Given the description of an element on the screen output the (x, y) to click on. 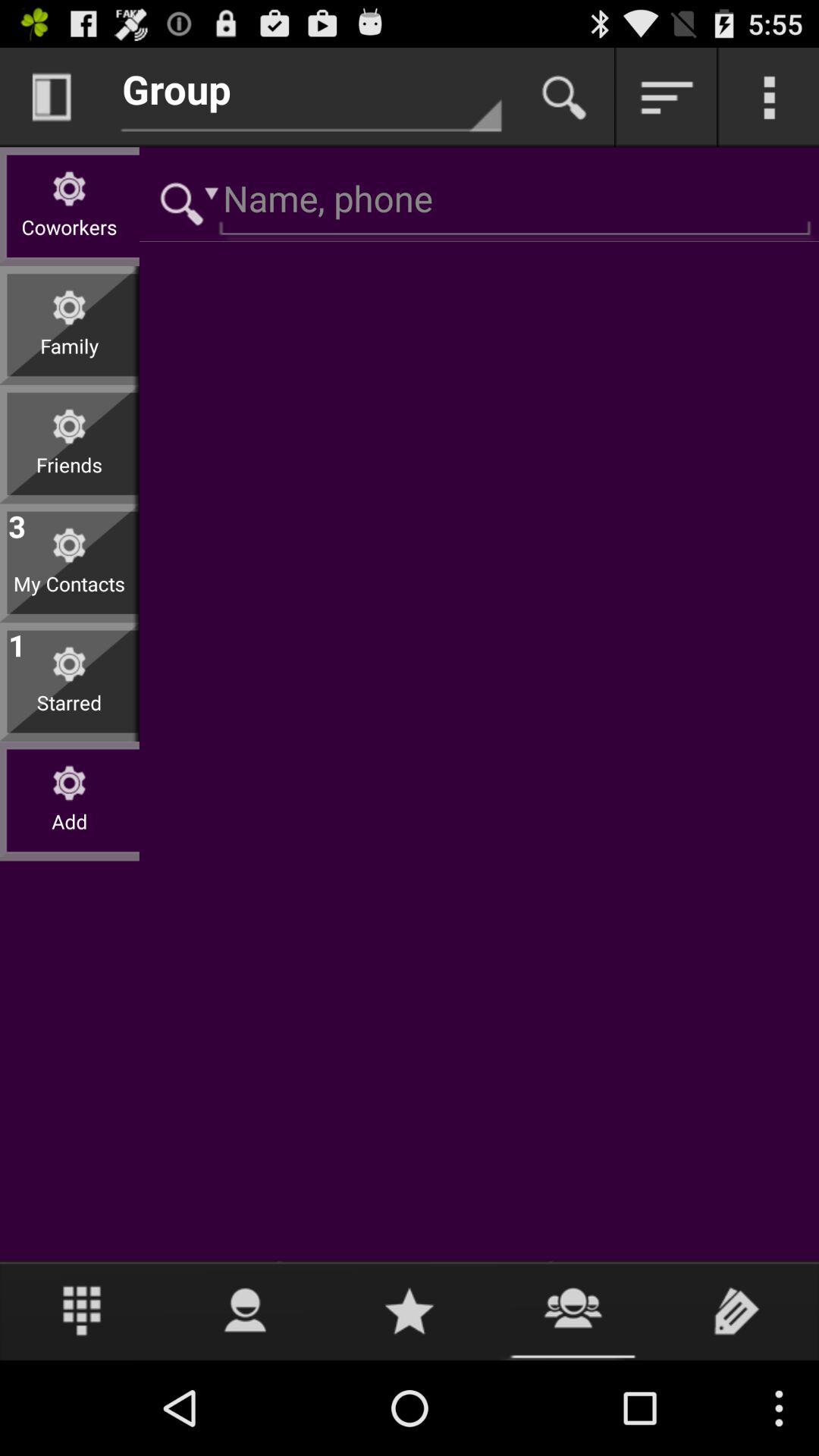
open app above starred app (16, 642)
